Given the description of an element on the screen output the (x, y) to click on. 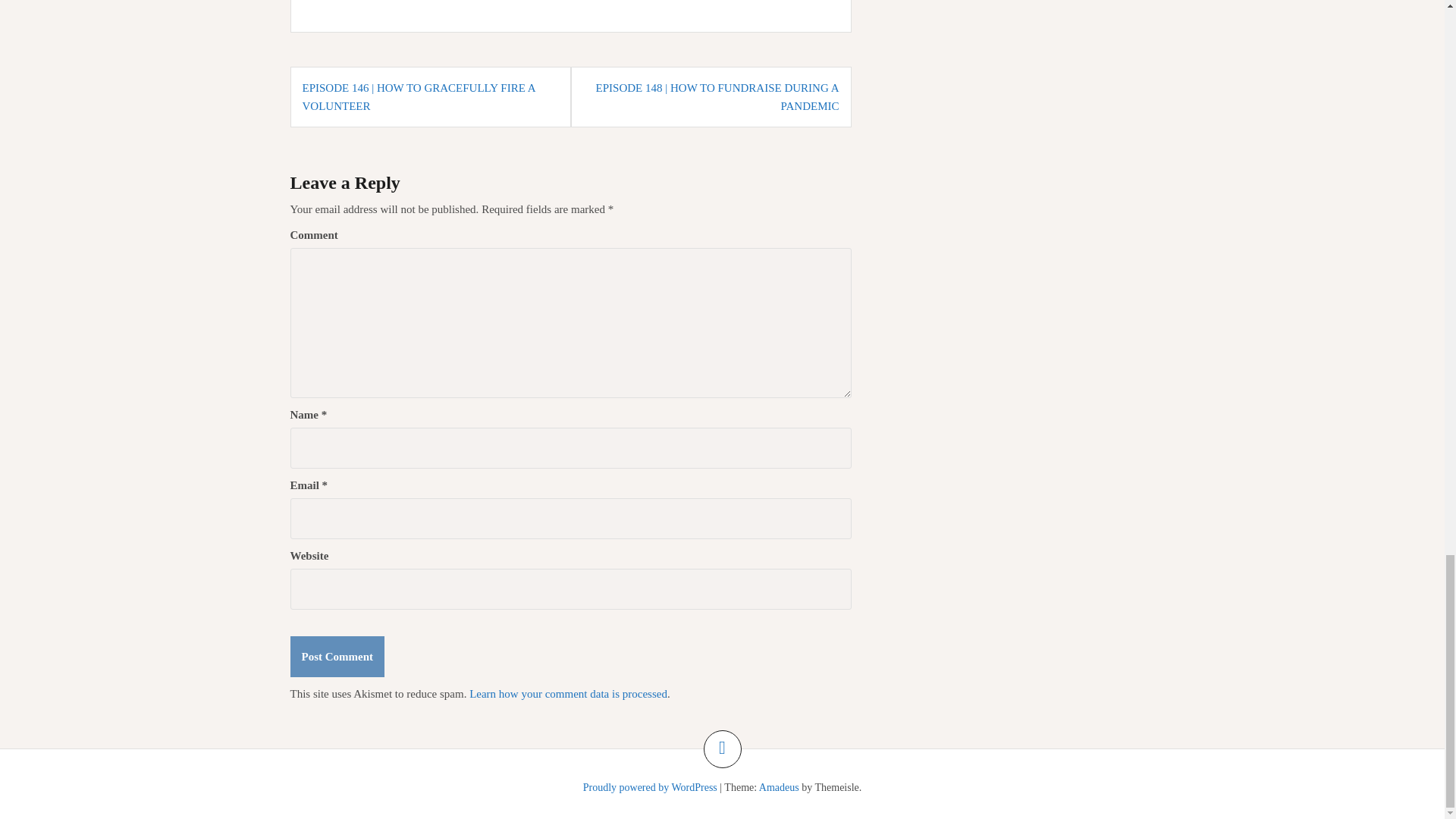
Post Comment (336, 656)
Learn how your comment data is processed (567, 693)
Post Comment (336, 656)
